Given the description of an element on the screen output the (x, y) to click on. 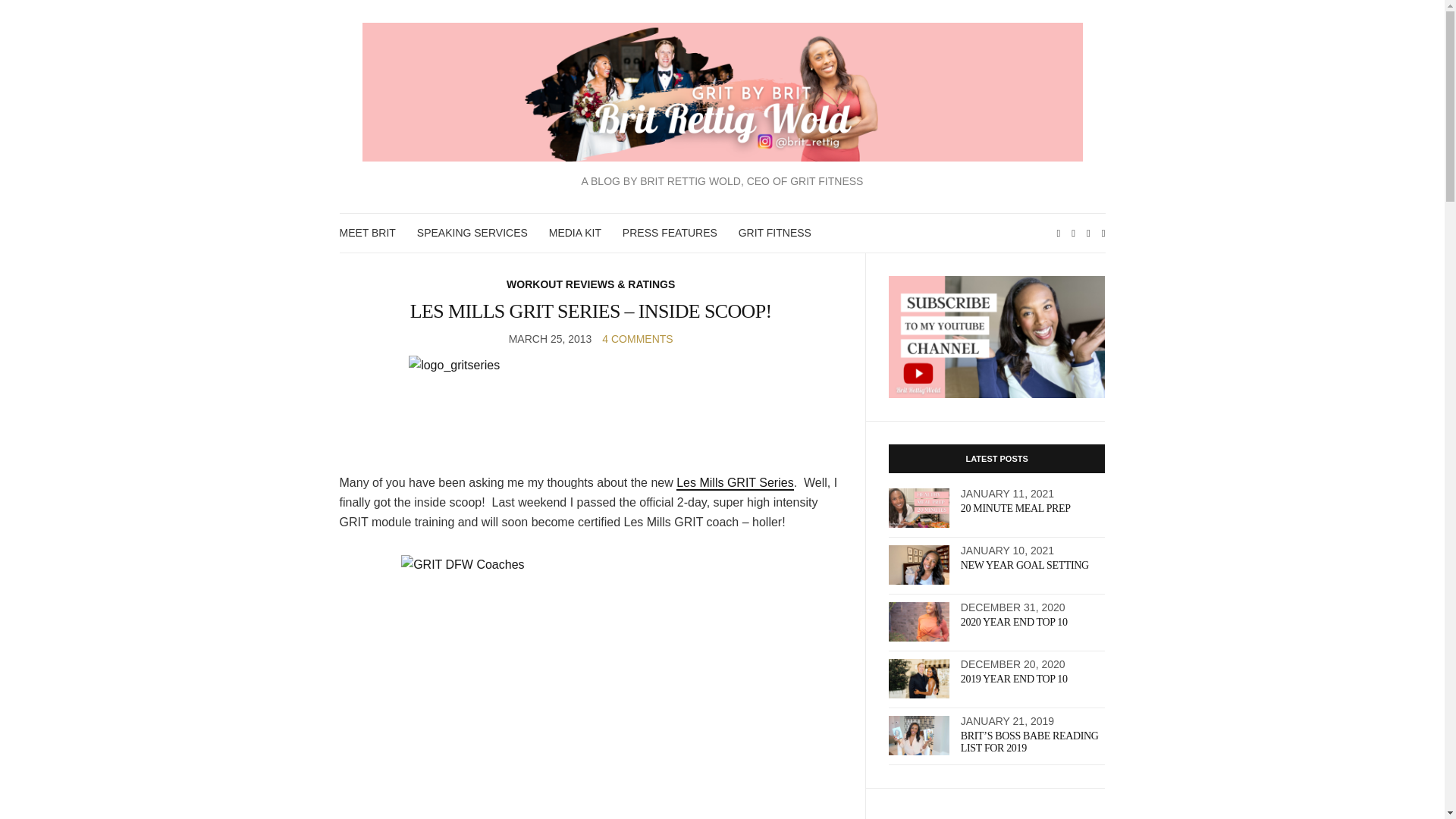
4 COMMENTS (637, 338)
MEDIA KIT (574, 232)
MEET BRIT (367, 232)
PRESS FEATURES (670, 232)
2019 YEAR END TOP 10 (1013, 678)
NEW YEAR GOAL SETTING (1024, 564)
20 MINUTE MEAL PREP (1015, 508)
Les Mills GRIT Series (735, 482)
2020 YEAR END TOP 10 (1013, 622)
EXPAND SEARCH FORM (1103, 232)
GRIT FITNESS (774, 232)
SPEAKING SERVICES (471, 232)
